Given the description of an element on the screen output the (x, y) to click on. 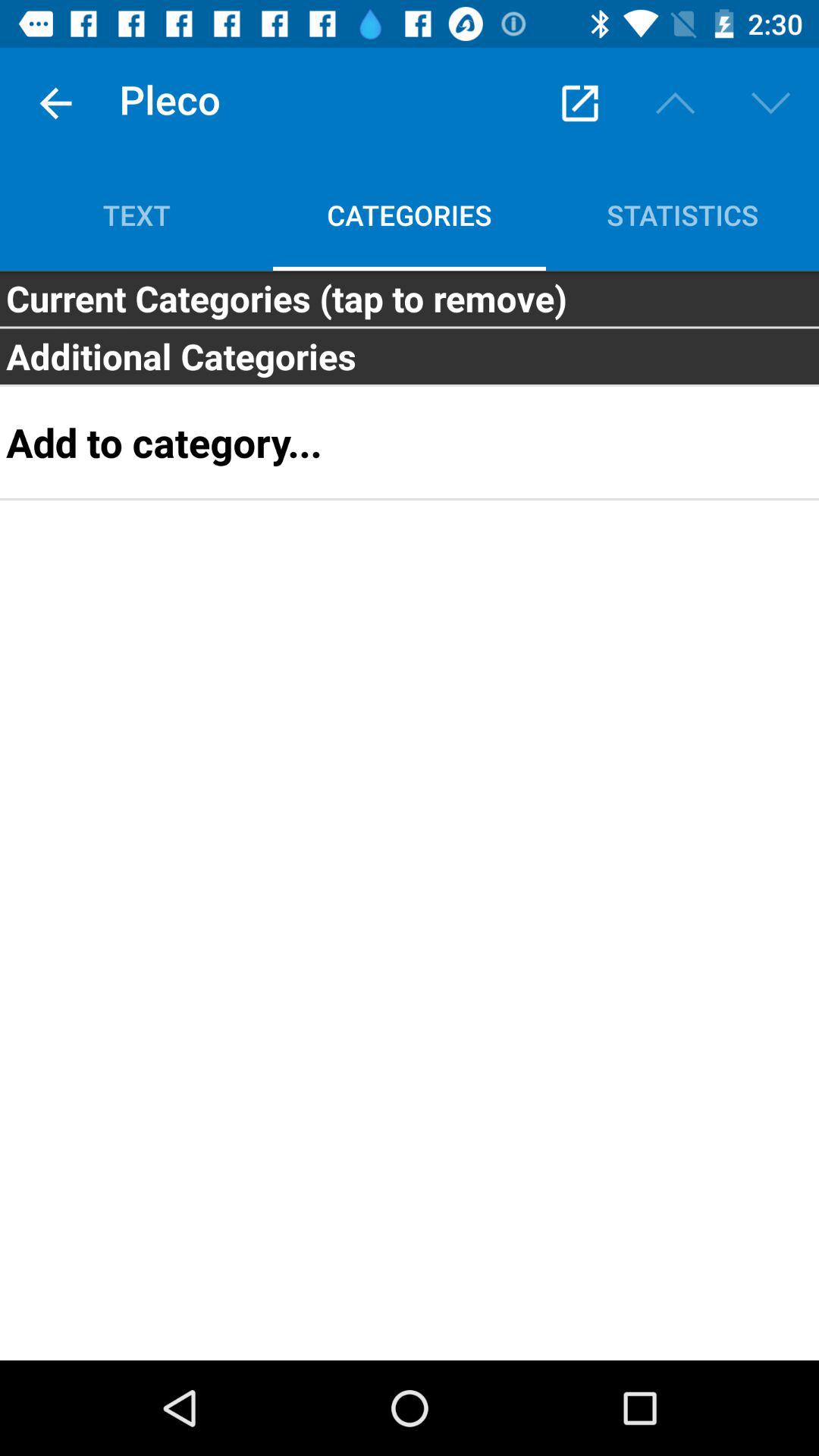
select item above the current categories tap icon (136, 214)
